Given the description of an element on the screen output the (x, y) to click on. 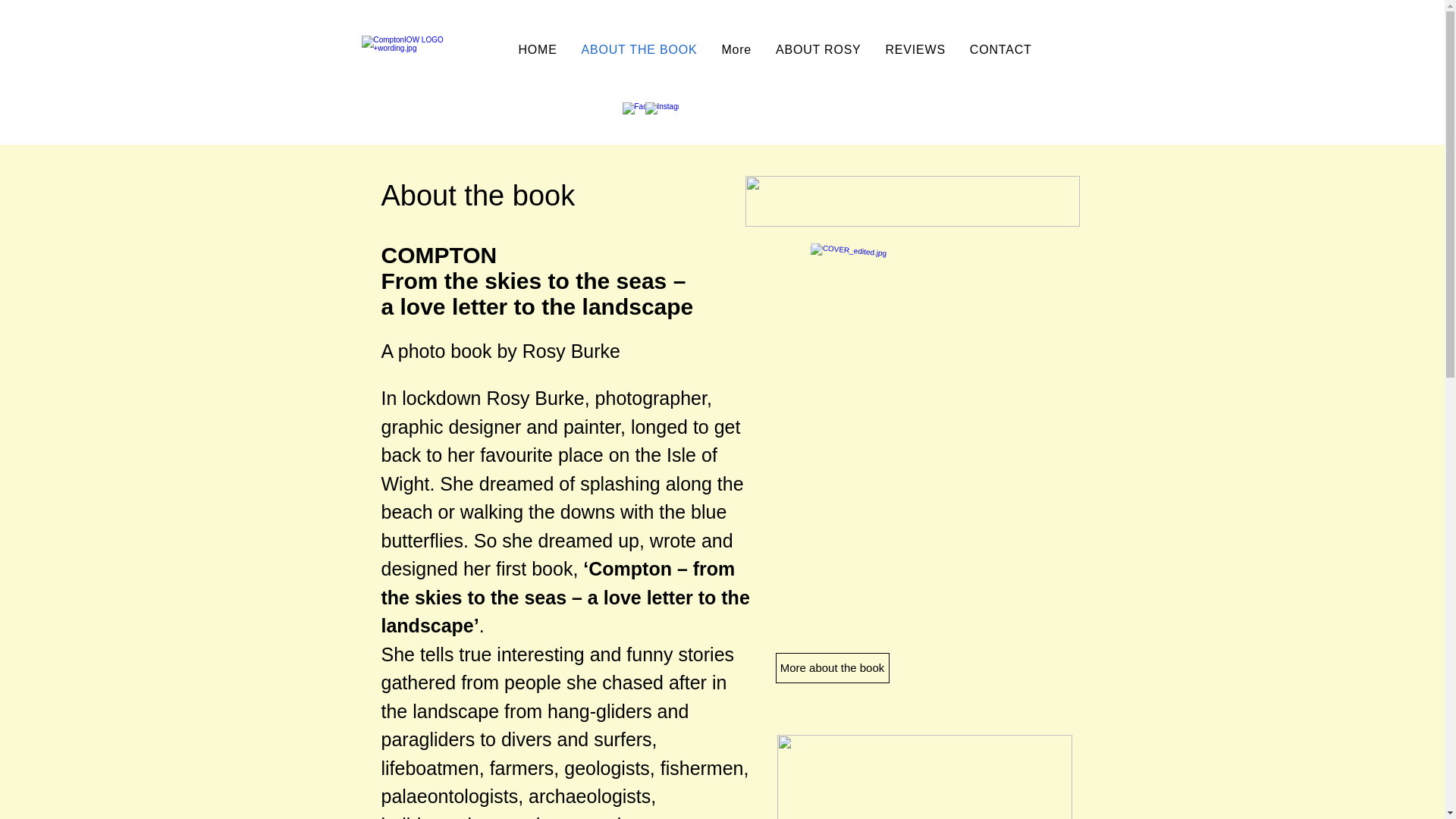
ABOUT ROSY (818, 50)
More about the book (831, 667)
REVIEWS (915, 50)
ABOUT THE BOOK (639, 50)
CONTACT (1000, 50)
Contents.jpg (923, 776)
More (735, 50)
HOME (537, 50)
Compton ROW RIGHT small illustrations.jp (911, 201)
